Given the description of an element on the screen output the (x, y) to click on. 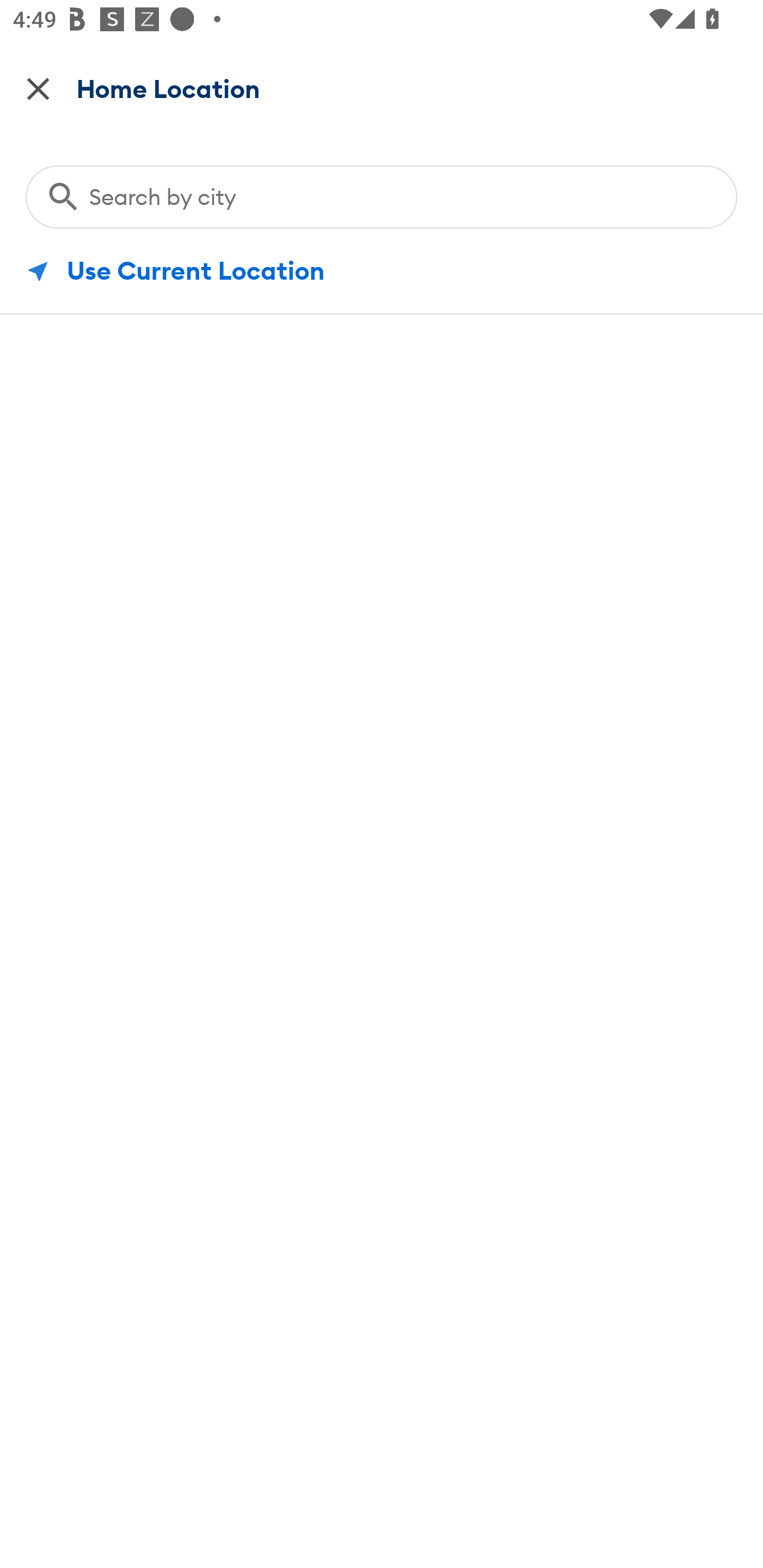
Close (38, 88)
Use Current Location (381, 270)
